Given the description of an element on the screen output the (x, y) to click on. 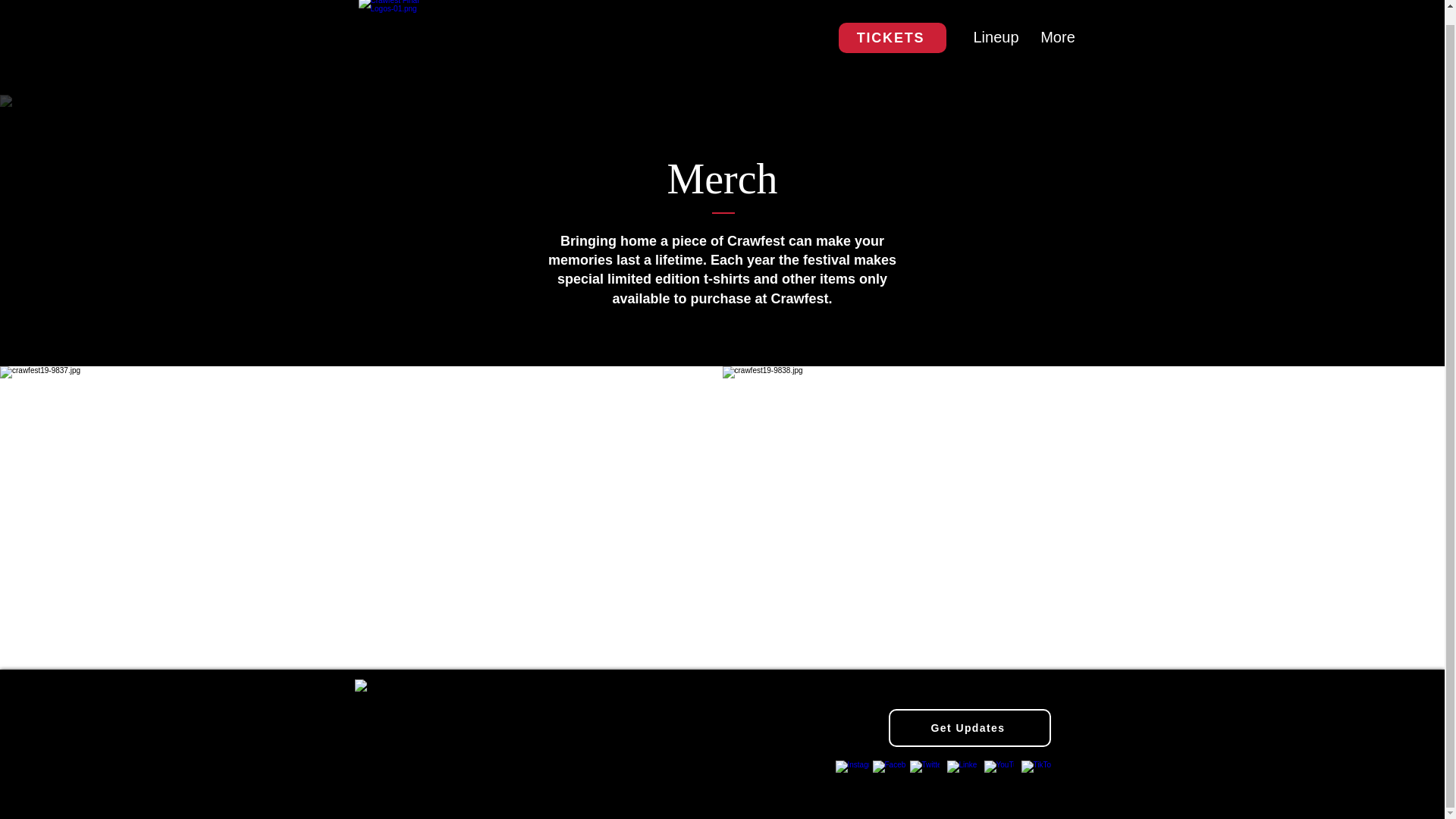
Get Updates (969, 727)
Lineup (993, 37)
TICKETS (892, 37)
